Given the description of an element on the screen output the (x, y) to click on. 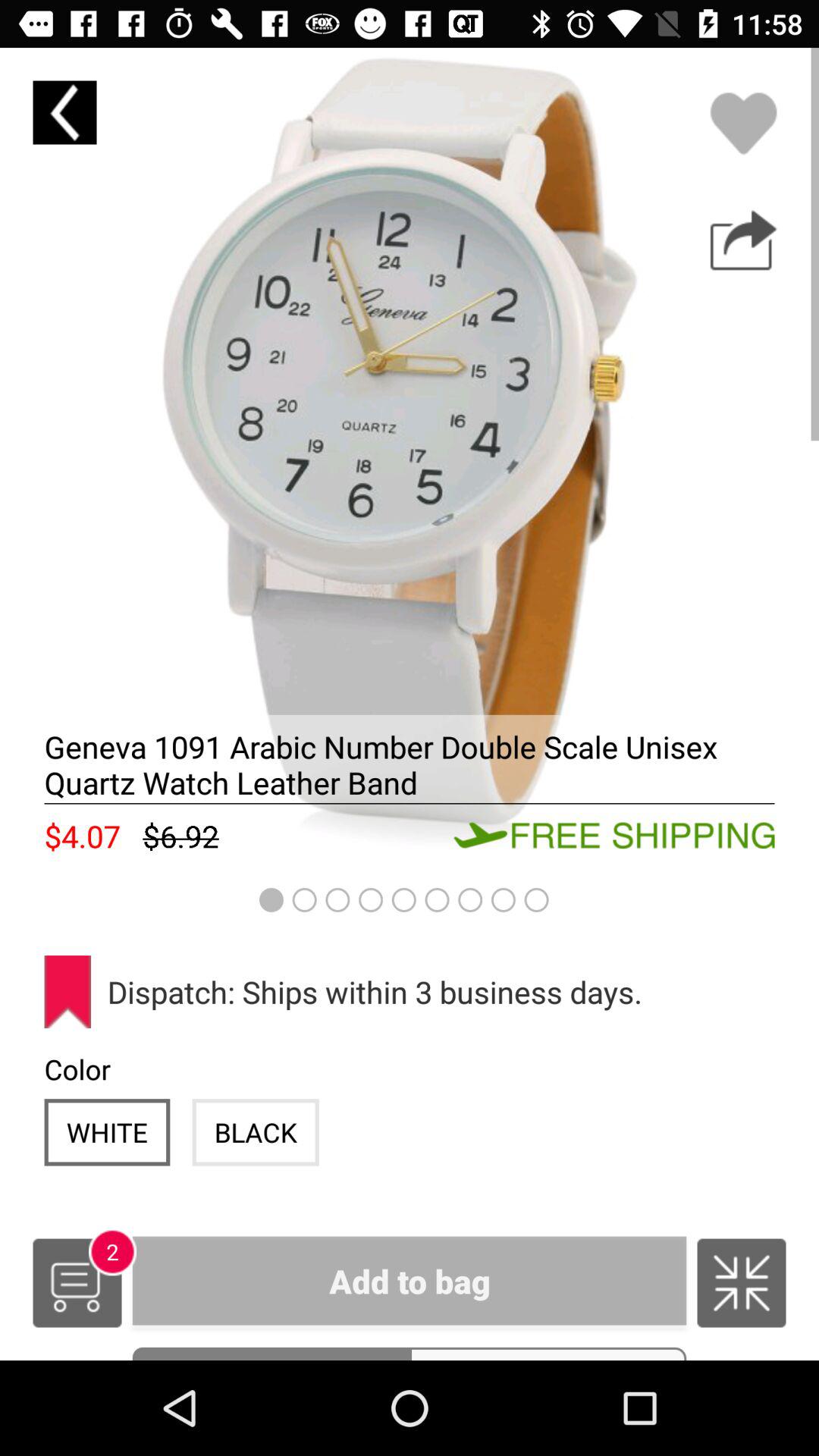
turn off the sizes item (547, 1353)
